Given the description of an element on the screen output the (x, y) to click on. 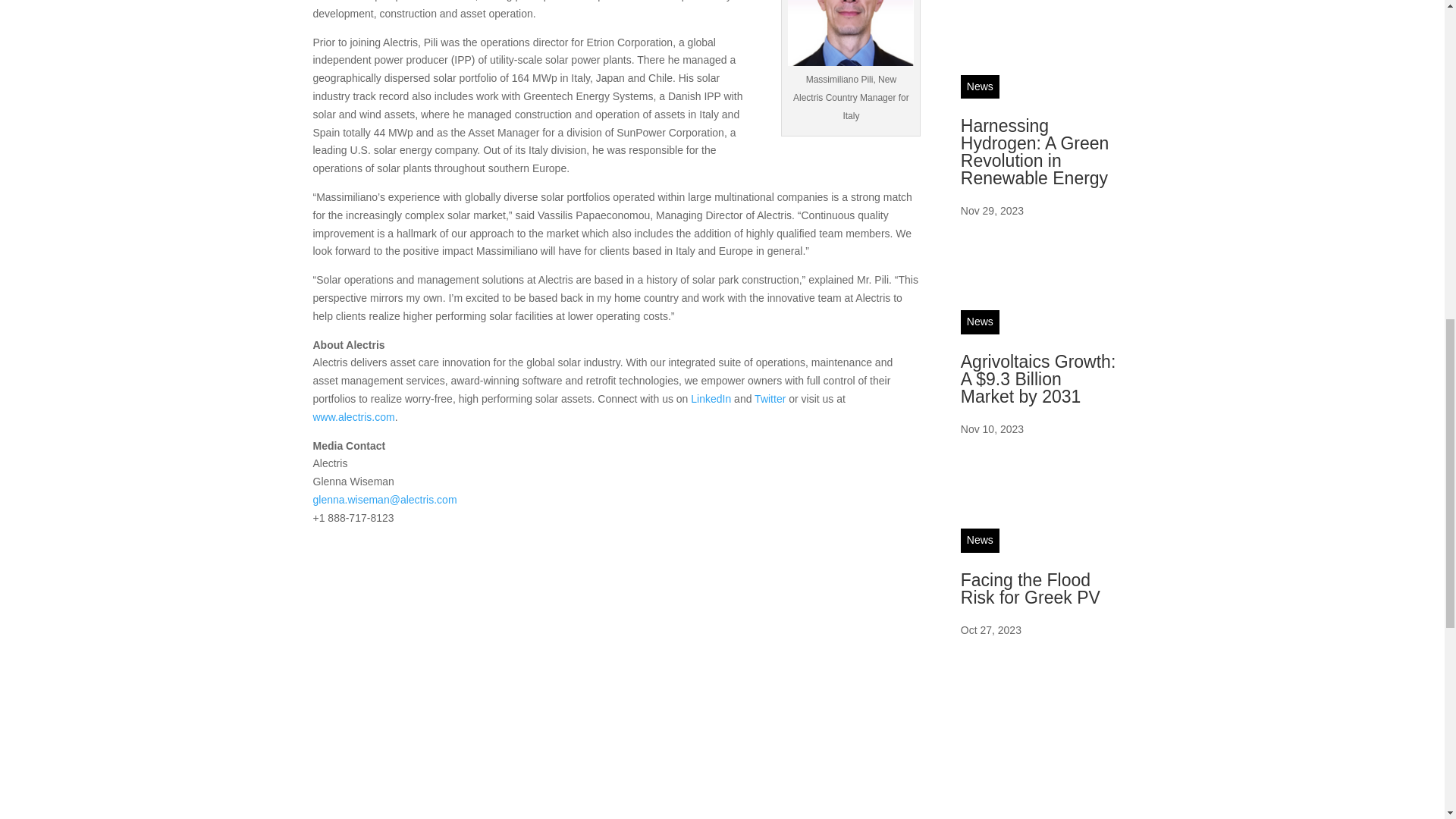
Twitter (770, 398)
www.alectris.com (353, 417)
LinkedIn (710, 398)
News (979, 87)
